Given the description of an element on the screen output the (x, y) to click on. 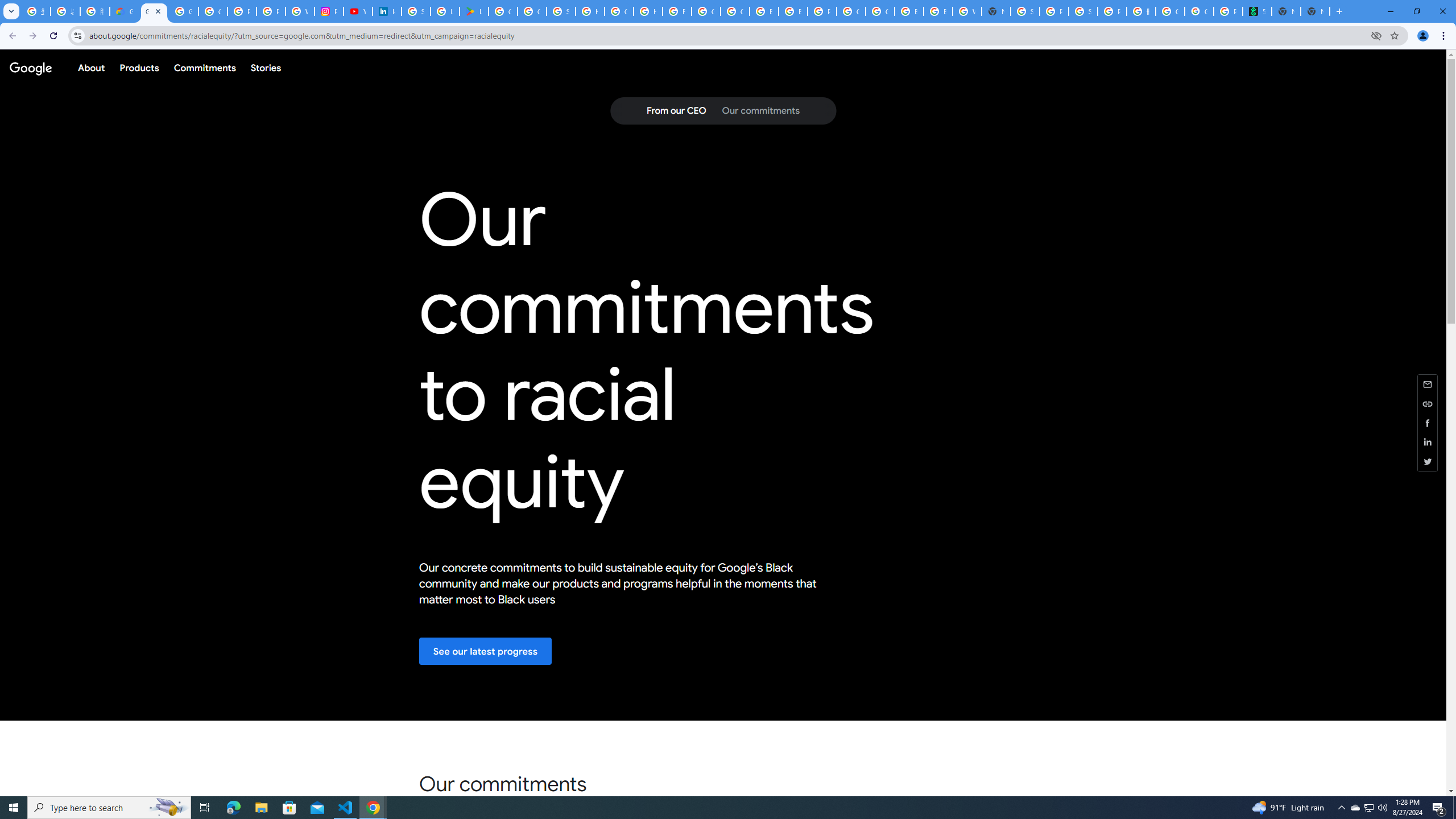
Share this page (Facebook) (1427, 422)
New Tab (996, 11)
Our commitments: Jump to page section (760, 110)
New Tab (1315, 11)
About (90, 67)
